Given the description of an element on the screen output the (x, y) to click on. 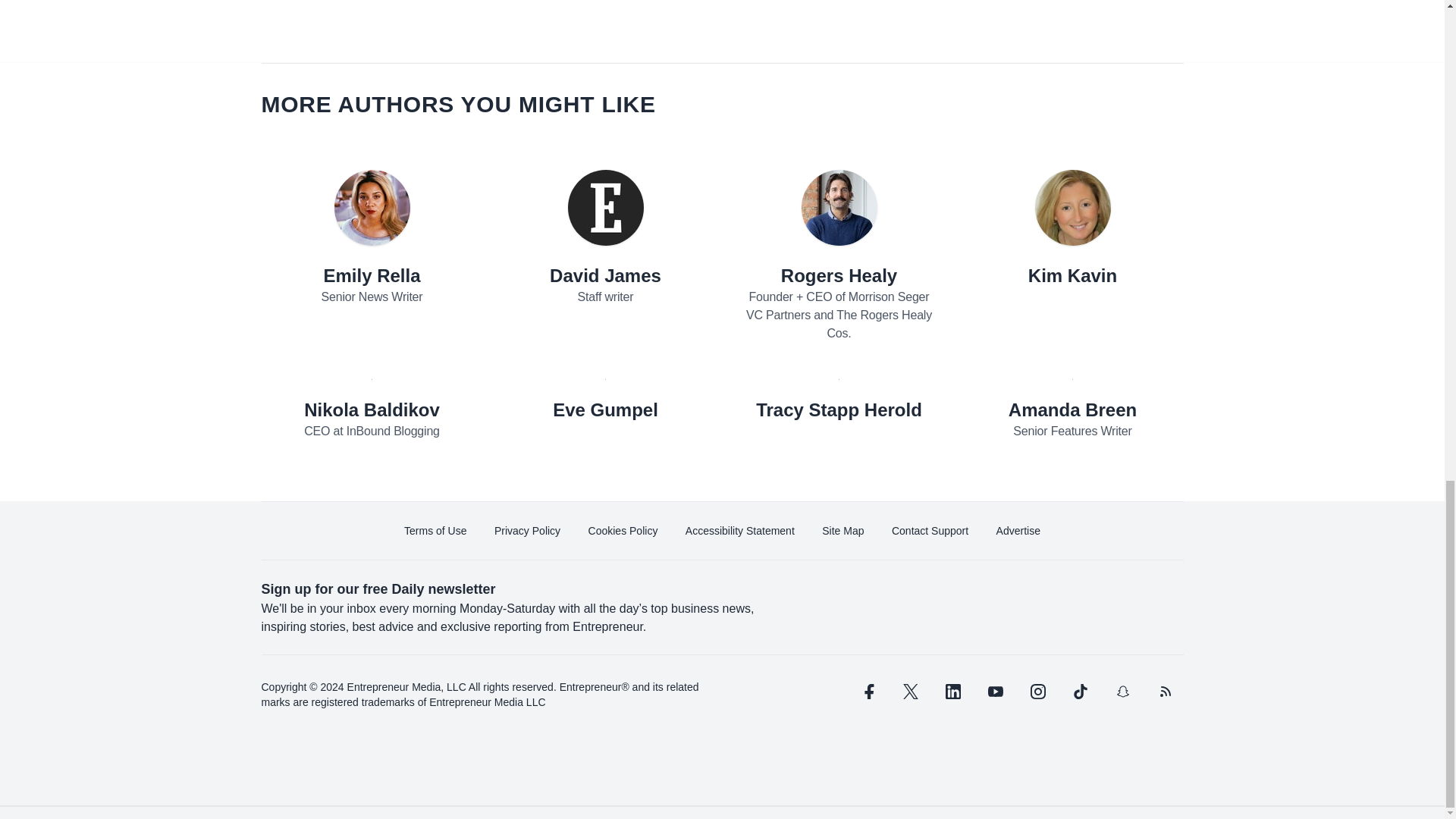
facebook (866, 691)
twitter (909, 691)
instagram (1037, 691)
tiktok (1079, 691)
youtube (994, 691)
linkedin (952, 691)
rss (1164, 691)
snapchat (1121, 691)
